Given the description of an element on the screen output the (x, y) to click on. 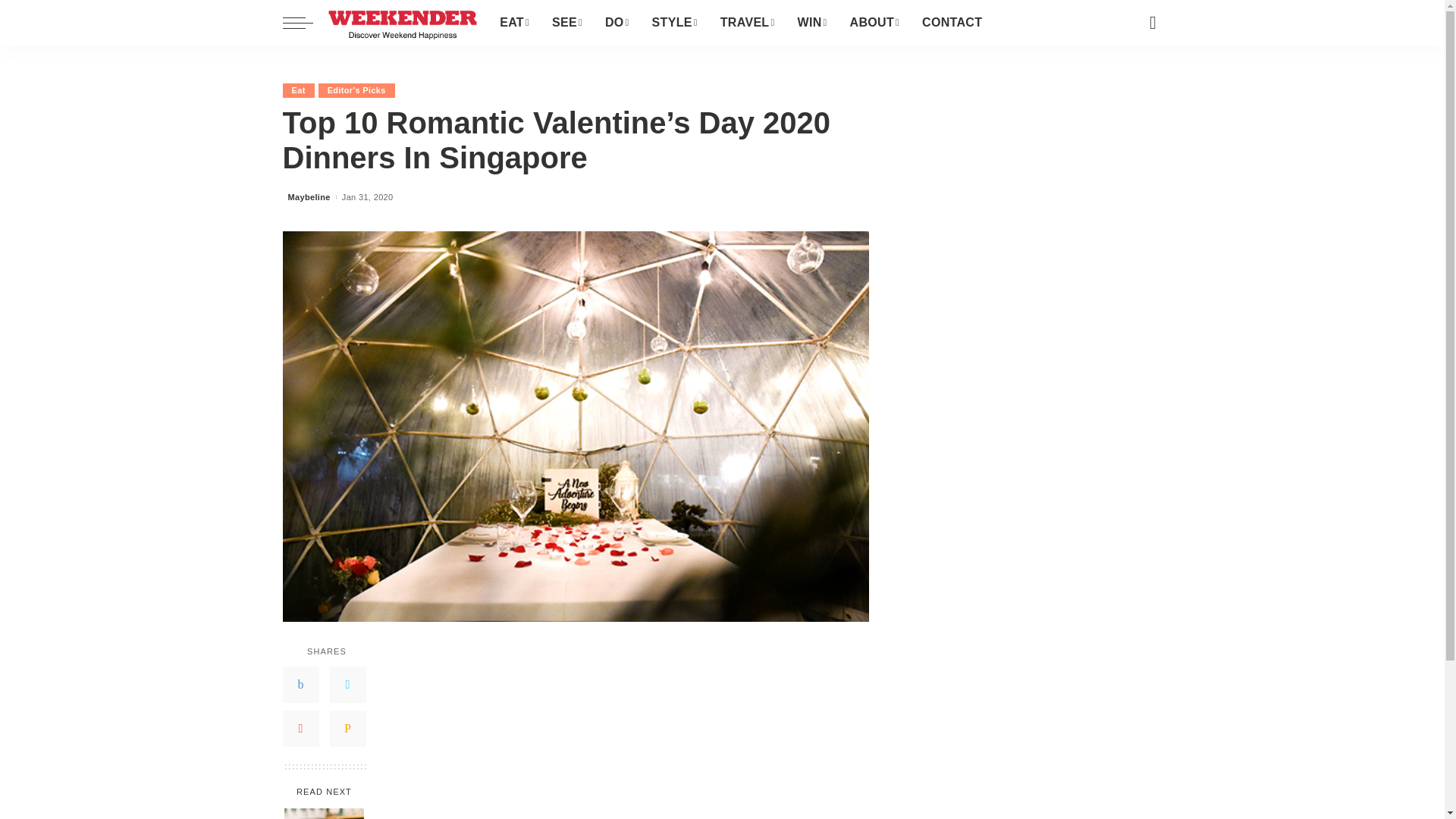
Twitter (347, 684)
Facebook (300, 684)
Weekender.Com.Sg (402, 22)
Pinterest (300, 728)
Email (347, 728)
